Given the description of an element on the screen output the (x, y) to click on. 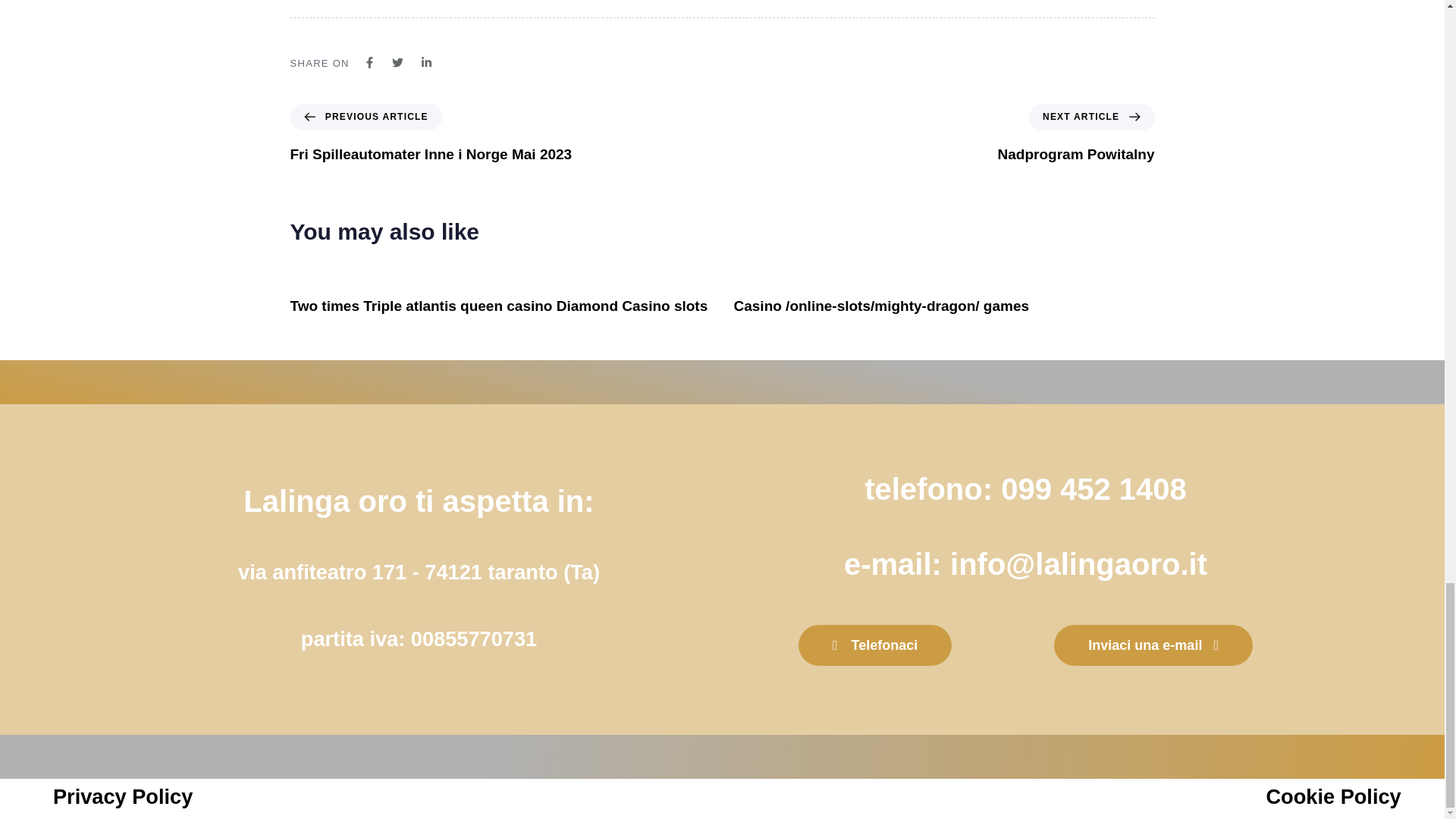
Inviaci una e-mail (1153, 645)
Two times Triple atlantis queen casino Diamond Casino slots (1075, 133)
Telefonaci (498, 305)
